Given the description of an element on the screen output the (x, y) to click on. 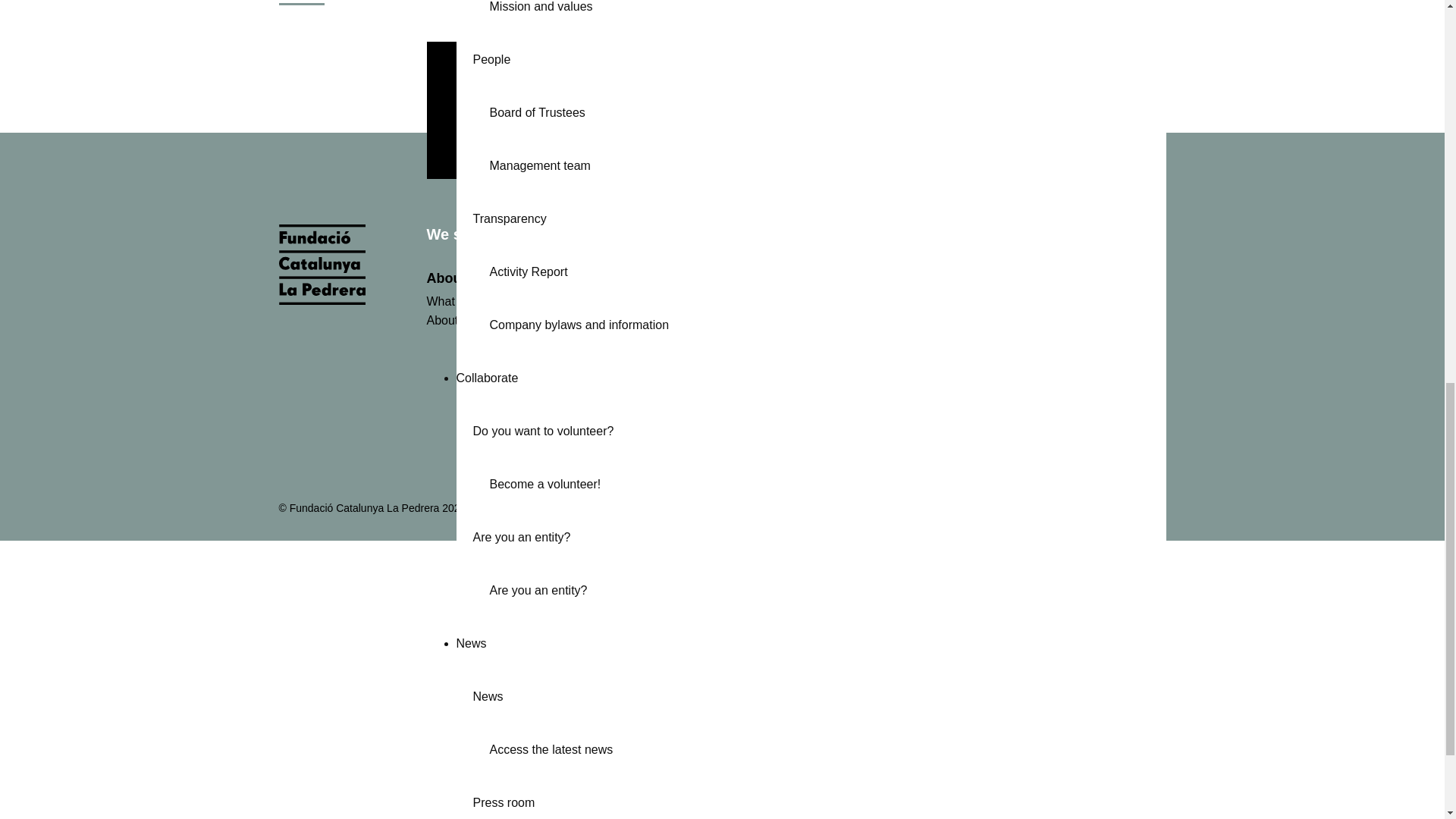
Management team (827, 162)
MORE INFORMATION (906, 110)
Company bylaws and information (827, 321)
Board of Trustees (827, 109)
Activity Report (827, 268)
Access the latest news (827, 746)
Become a volunteer! (827, 481)
Mission and values (827, 15)
Home (322, 300)
YouTube (1086, 508)
